Given the description of an element on the screen output the (x, y) to click on. 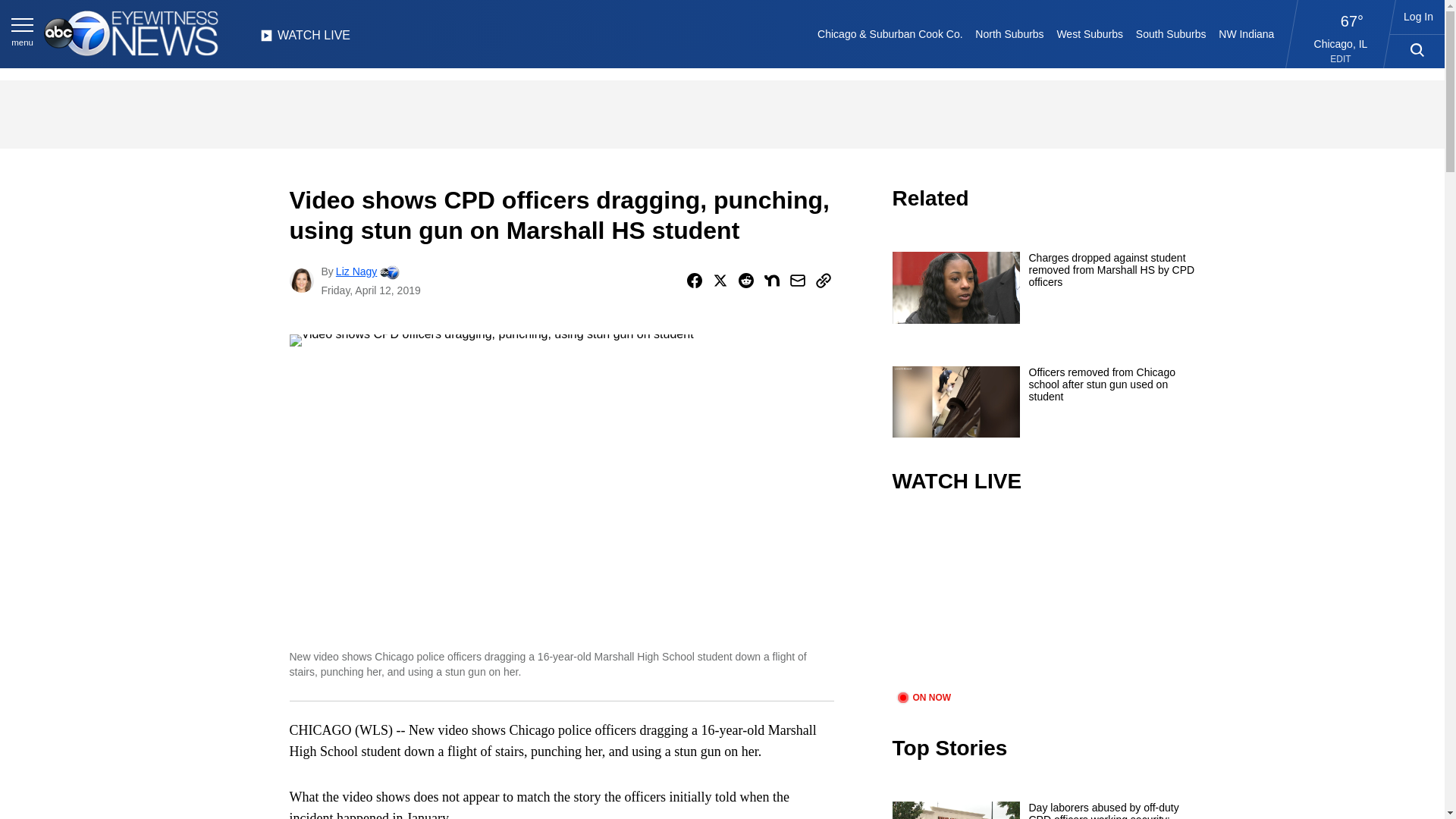
Chicago, IL (1340, 43)
video.title (1043, 601)
North Suburbs (1009, 33)
WATCH LIVE (305, 39)
NW Indiana (1246, 33)
EDIT (1340, 59)
South Suburbs (1170, 33)
West Suburbs (1089, 33)
